Given the description of an element on the screen output the (x, y) to click on. 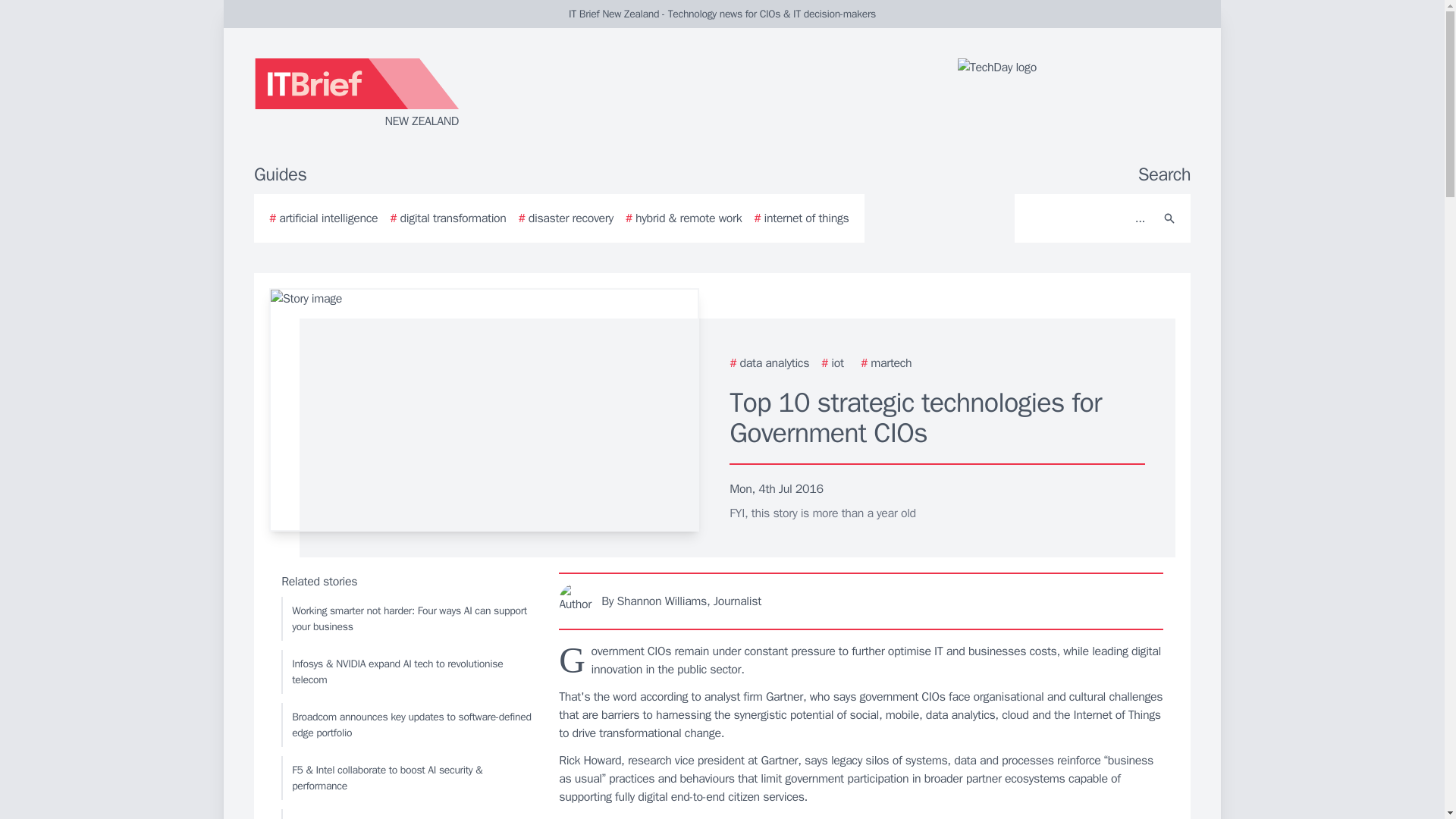
NEW ZEALAND (435, 94)
By Shannon Williams, Journalist (861, 601)
